Given the description of an element on the screen output the (x, y) to click on. 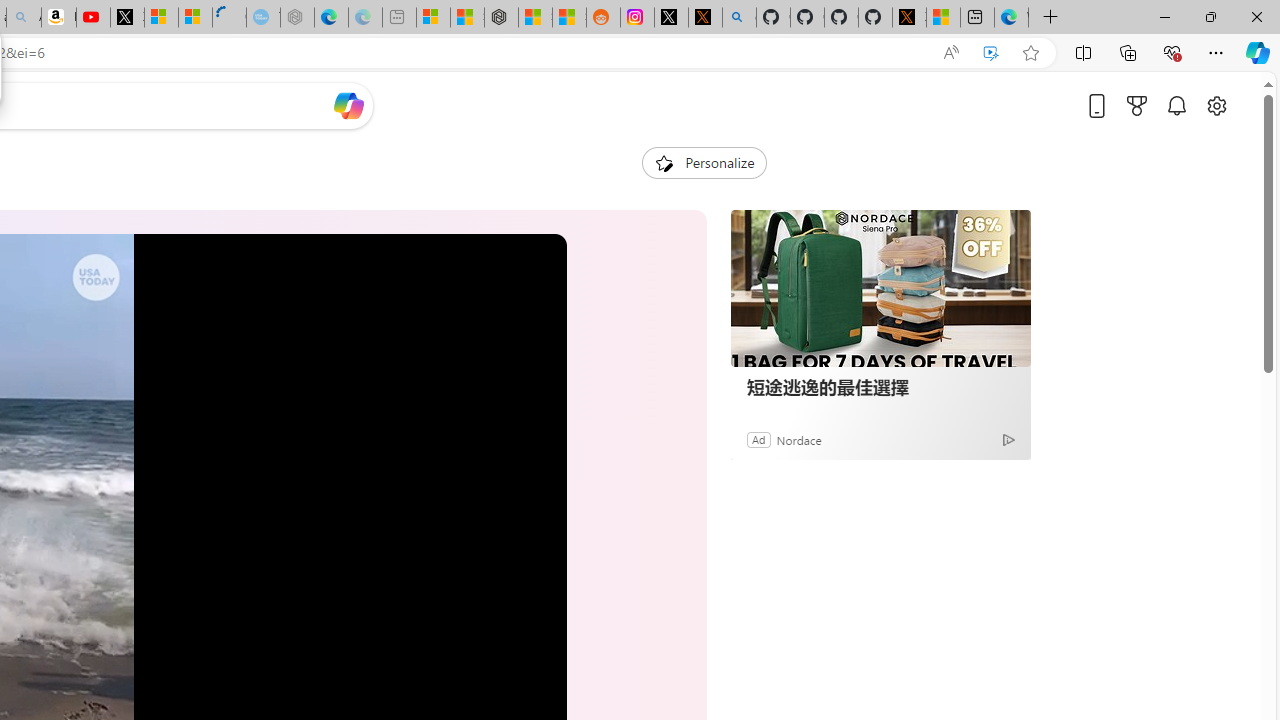
Enhance video (991, 53)
X Privacy Policy (909, 17)
Shanghai, China Weather trends | Microsoft Weather (569, 17)
